Given the description of an element on the screen output the (x, y) to click on. 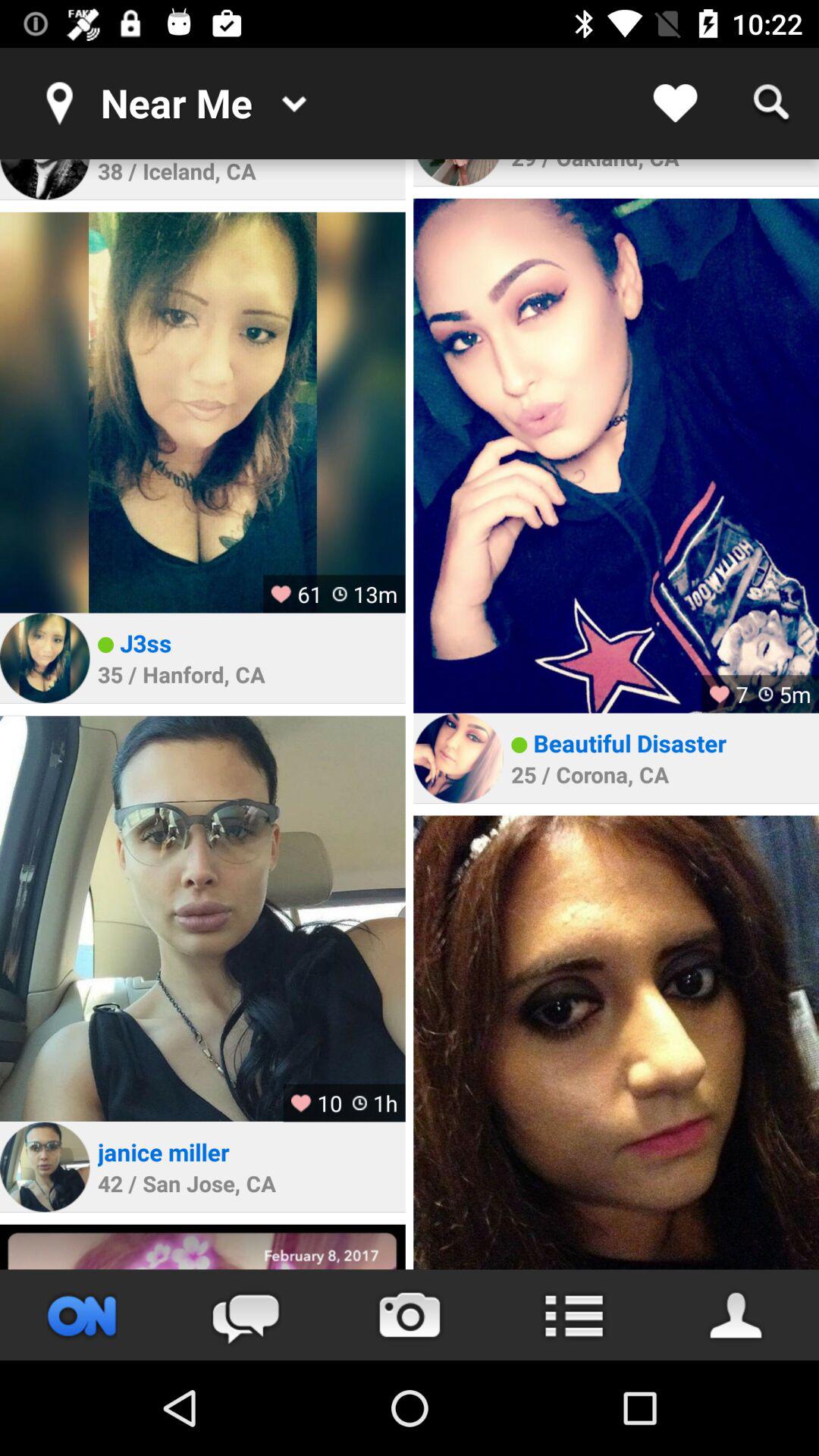
open profile (737, 1315)
